Given the description of an element on the screen output the (x, y) to click on. 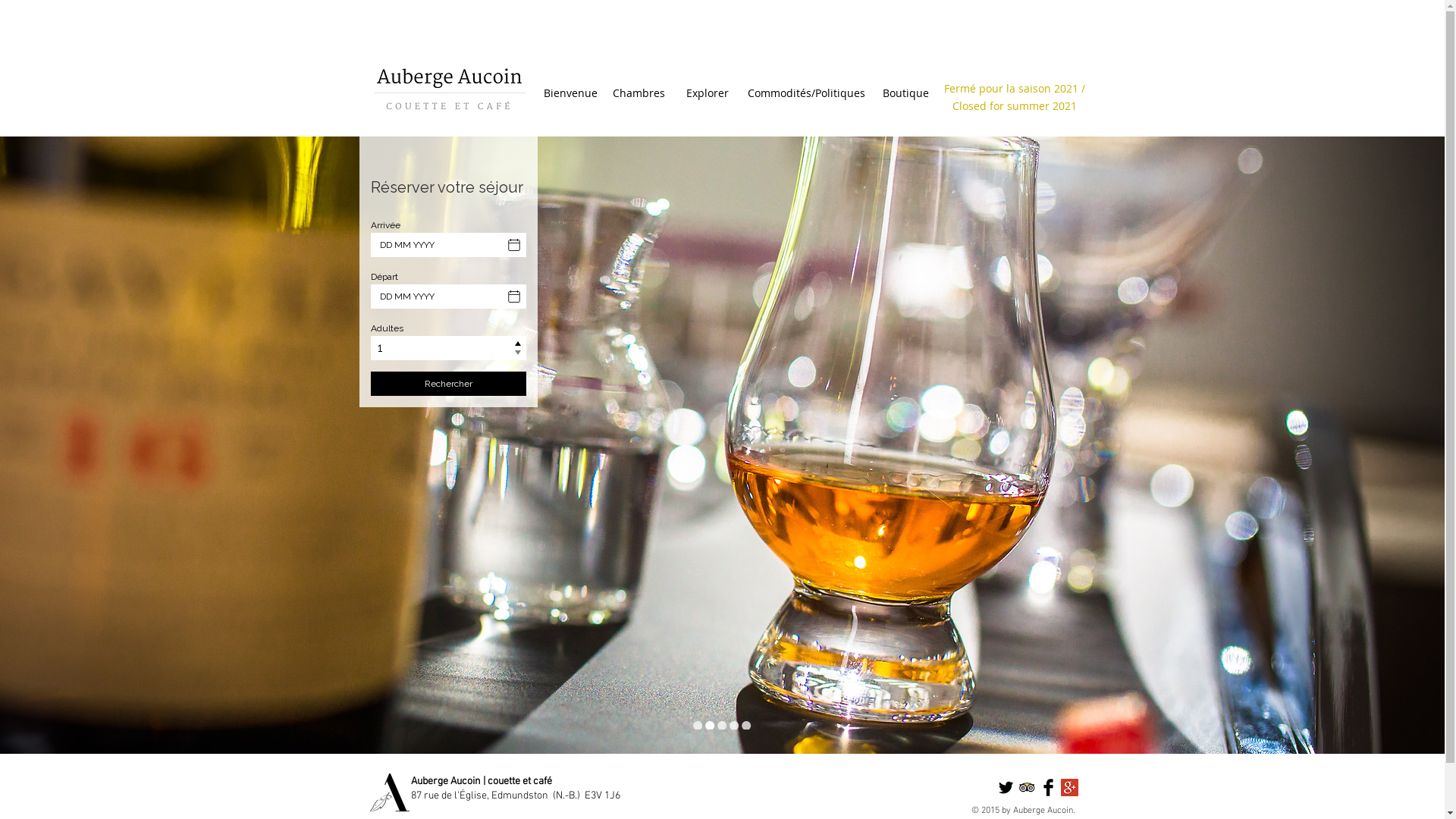
Bienvenue Element type: text (569, 92)
Chambres Element type: text (638, 92)
Closed for summer 2021 Element type: text (1014, 105)
Wix Hotels Element type: hover (448, 294)
Boutique Element type: text (905, 92)
Explorer Element type: text (707, 92)
Wix Language Menu Element type: hover (1061, 51)
